Given the description of an element on the screen output the (x, y) to click on. 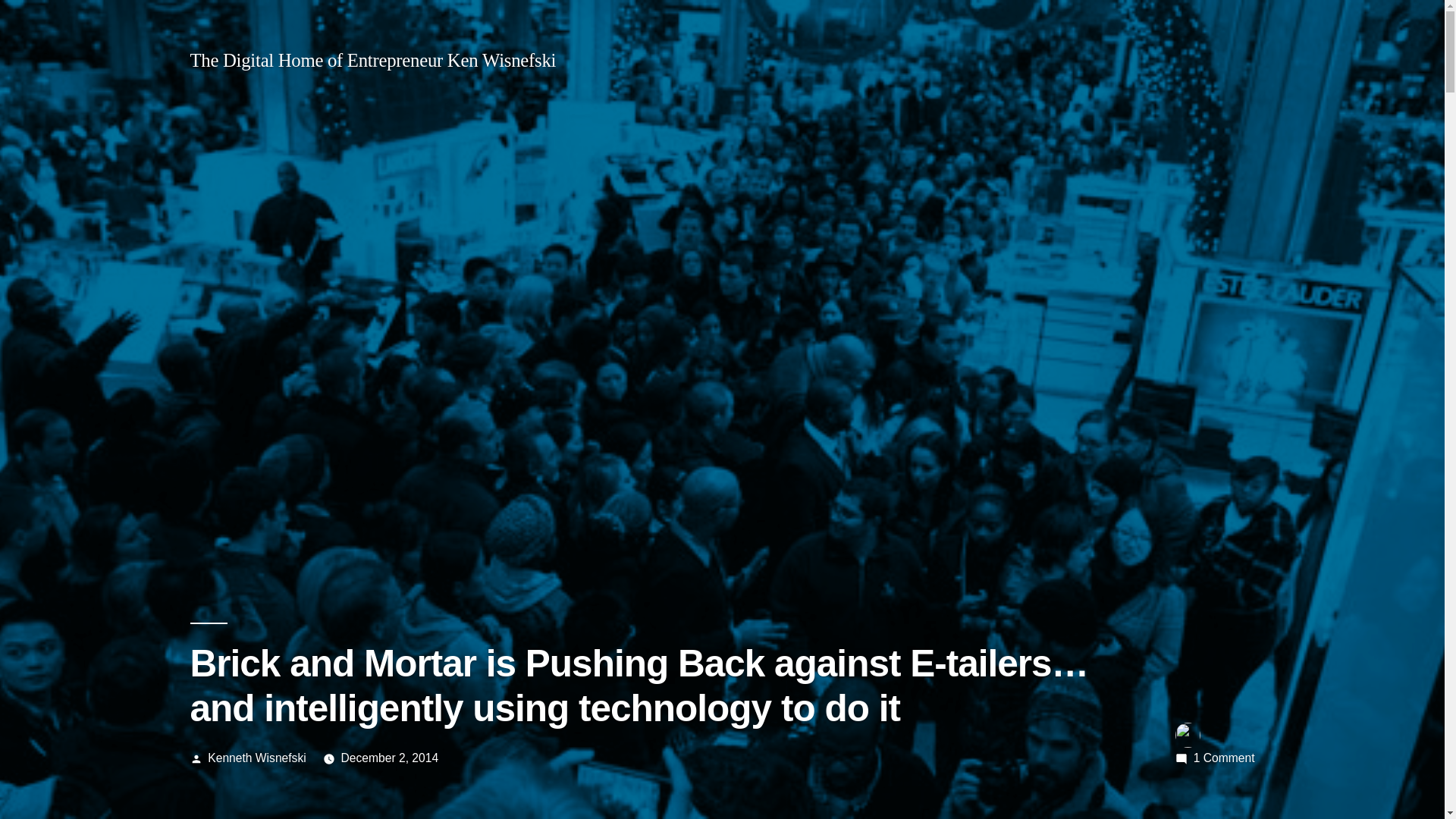
Kenneth Wisnefski (256, 757)
December 2, 2014 (389, 757)
